Given the description of an element on the screen output the (x, y) to click on. 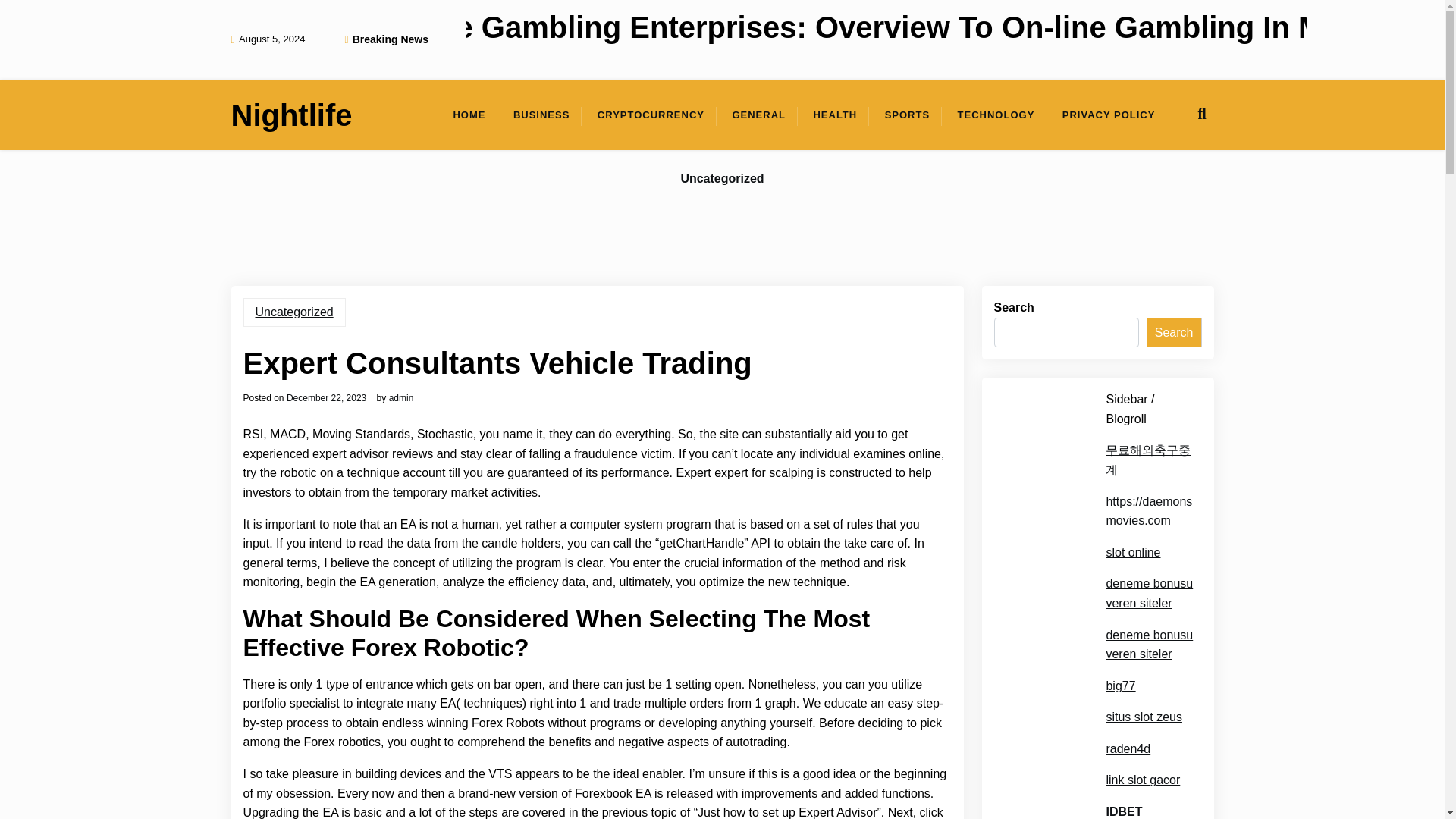
slot online (1132, 552)
Uncategorized (722, 178)
deneme bonusu veren siteler (1148, 644)
GENERAL (758, 115)
BUSINESS (540, 115)
CRYPTOCURRENCY (650, 115)
PRIVACY POLICY (1108, 115)
December 22, 2023 (326, 397)
HEALTH (834, 115)
admin (400, 397)
SPORTS (907, 115)
big77 (1120, 686)
HOME (469, 115)
deneme bonusu veren siteler (1148, 593)
Uncategorized (294, 312)
